Given the description of an element on the screen output the (x, y) to click on. 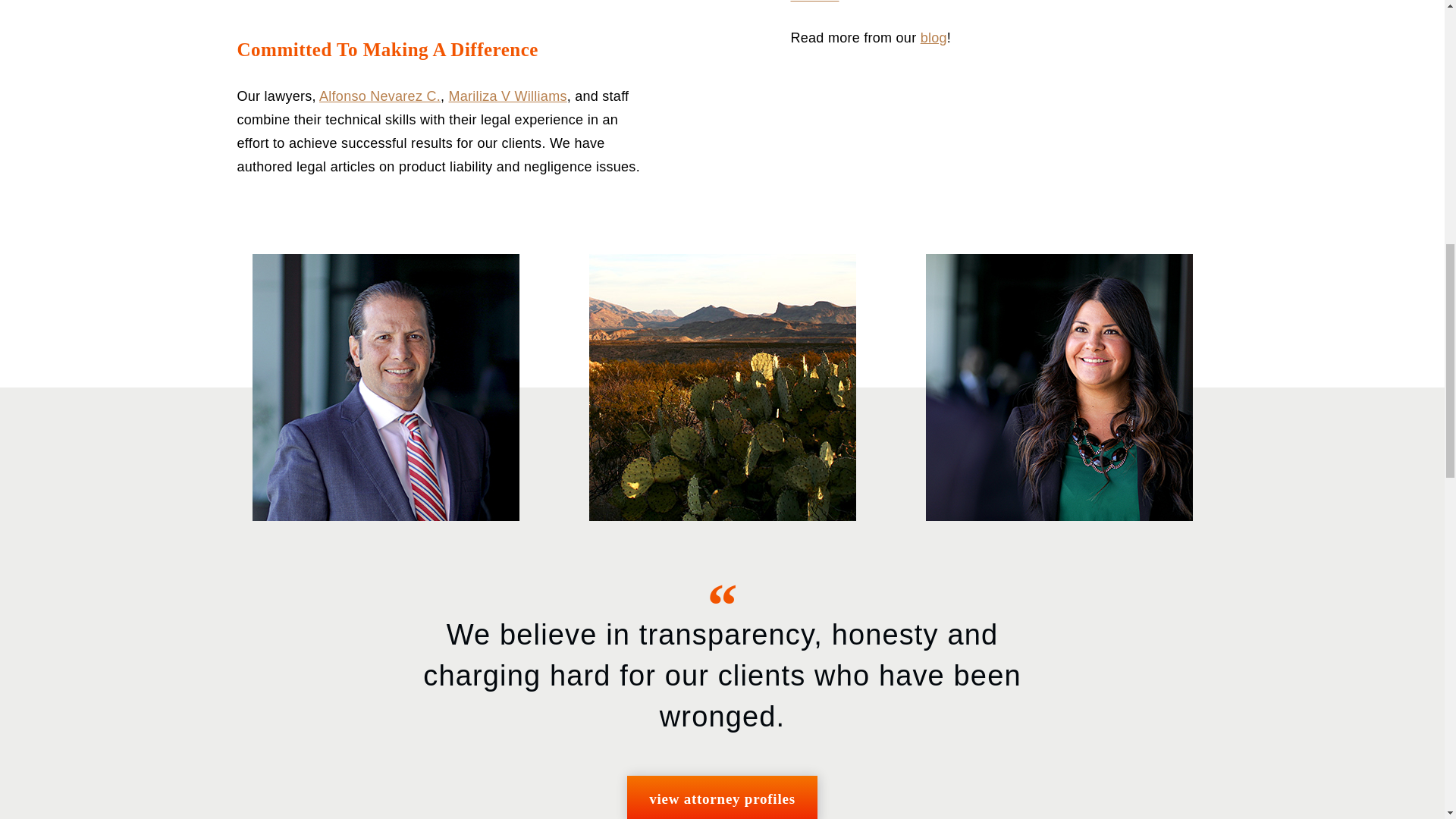
Alfonso Nevarez C. (379, 96)
Contact (814, 1)
Mariliza V Williams (507, 96)
